Given the description of an element on the screen output the (x, y) to click on. 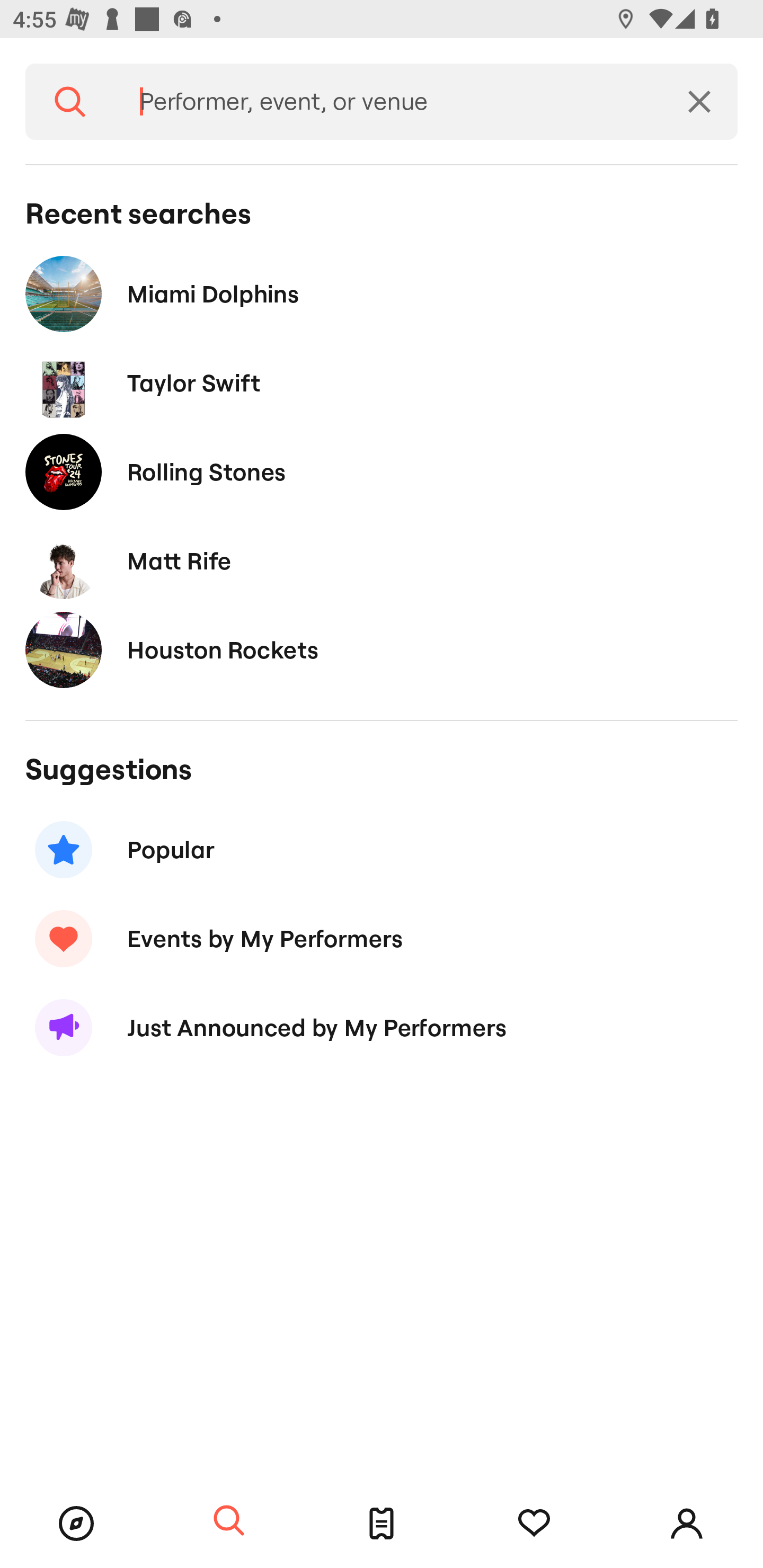
Search (69, 101)
Performer, event, or venue (387, 101)
Clear (699, 101)
Miami Dolphins (381, 293)
Taylor Swift (381, 383)
Rolling Stones (381, 471)
Matt Rife (381, 560)
Houston Rockets (381, 649)
Popular (381, 849)
Events by My Performers (381, 938)
Just Announced by My Performers (381, 1027)
Browse (76, 1523)
Search (228, 1521)
Tickets (381, 1523)
Tracking (533, 1523)
Account (686, 1523)
